Given the description of an element on the screen output the (x, y) to click on. 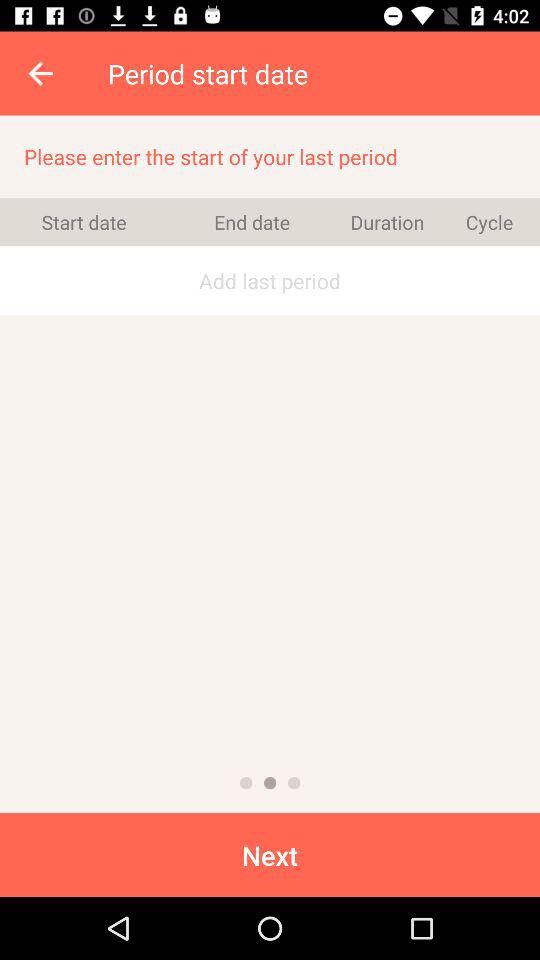
show previous page (246, 783)
